Given the description of an element on the screen output the (x, y) to click on. 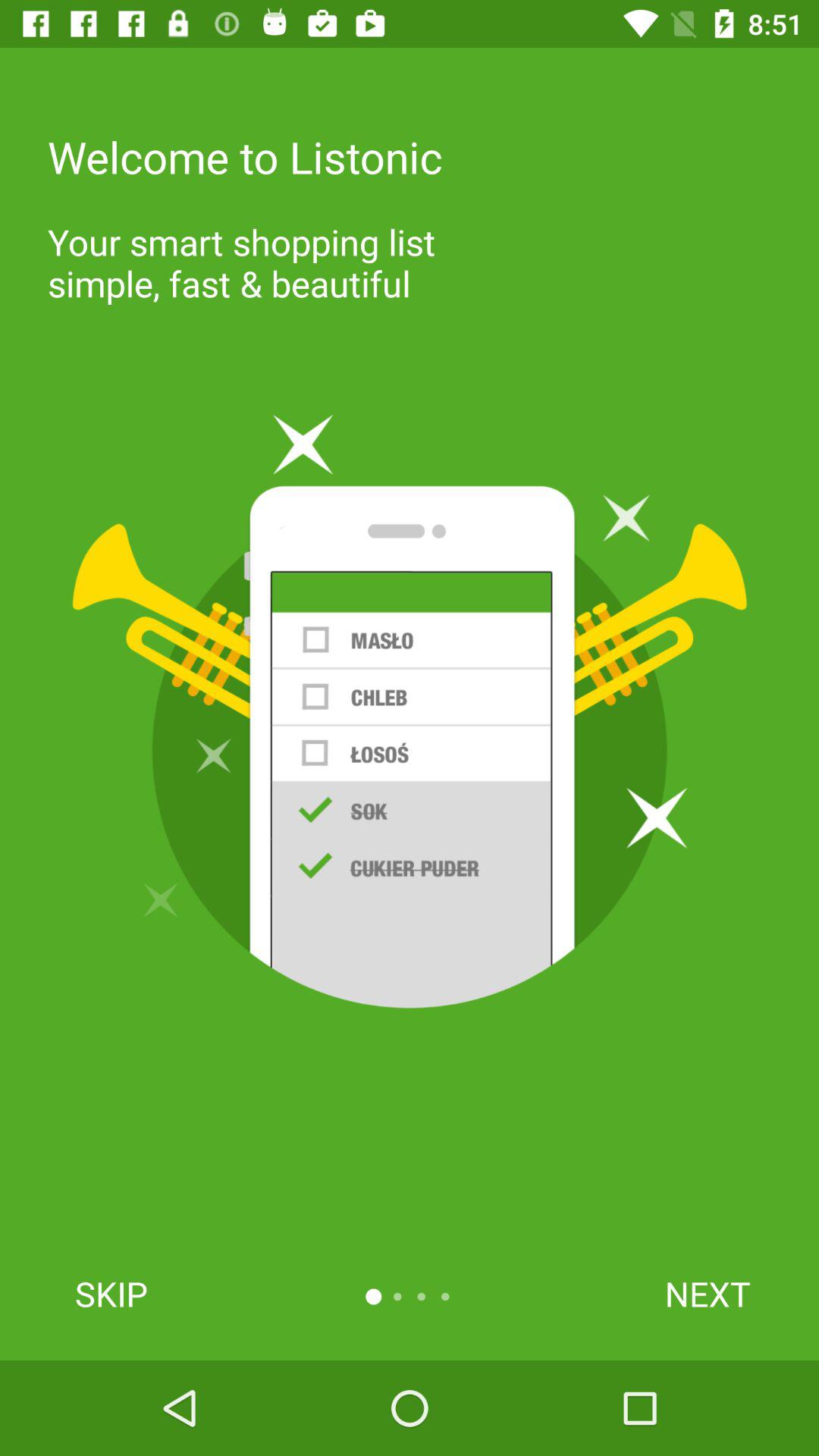
swipe to skip item (111, 1293)
